Given the description of an element on the screen output the (x, y) to click on. 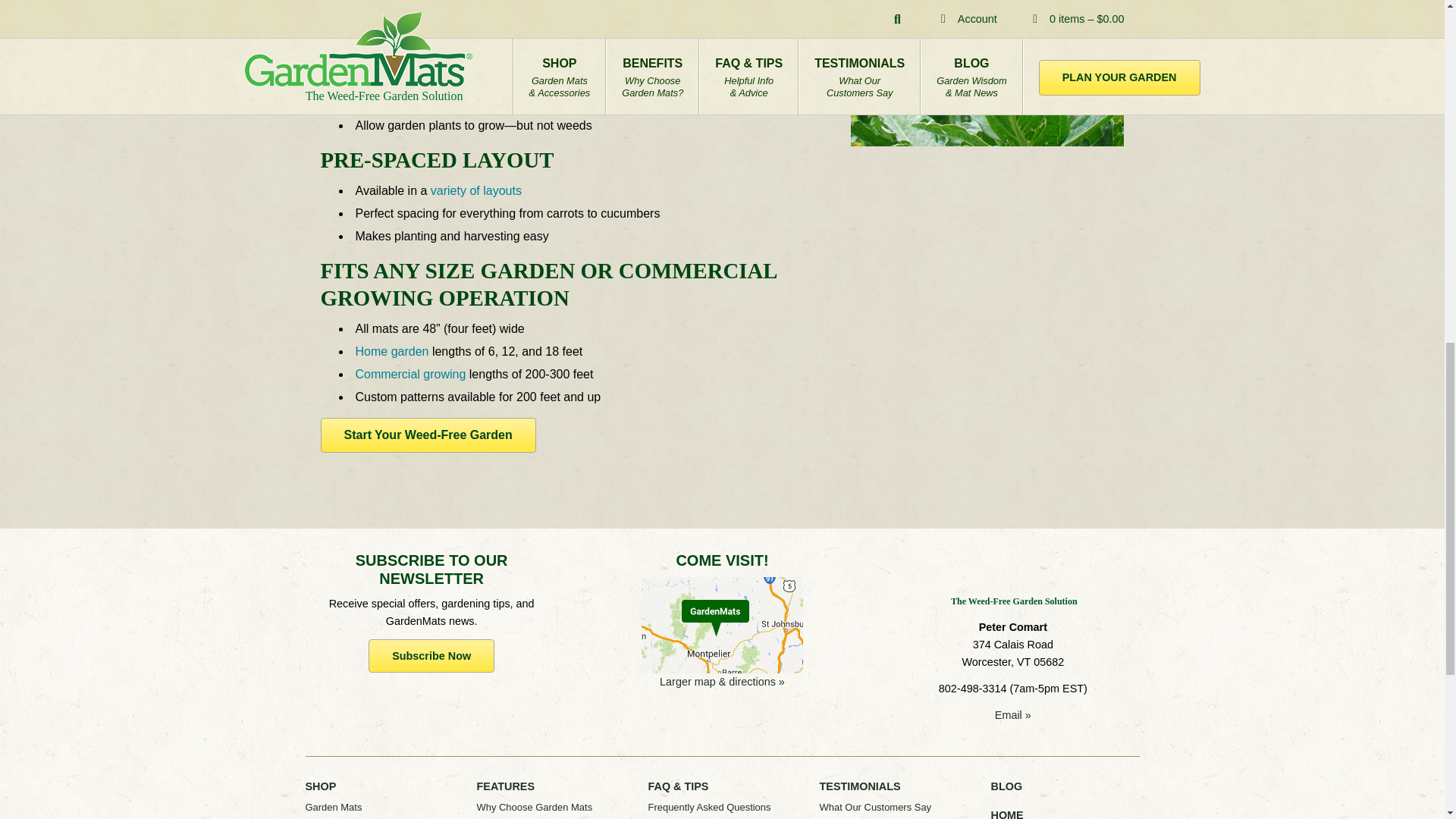
SHOP (320, 786)
The Weed-Free Garden Solution (1012, 580)
Home garden (391, 350)
Commercial growing (410, 373)
Start Your Weed-Free Garden (427, 434)
variety of layouts (475, 190)
Subscribe Now (431, 655)
